Given the description of an element on the screen output the (x, y) to click on. 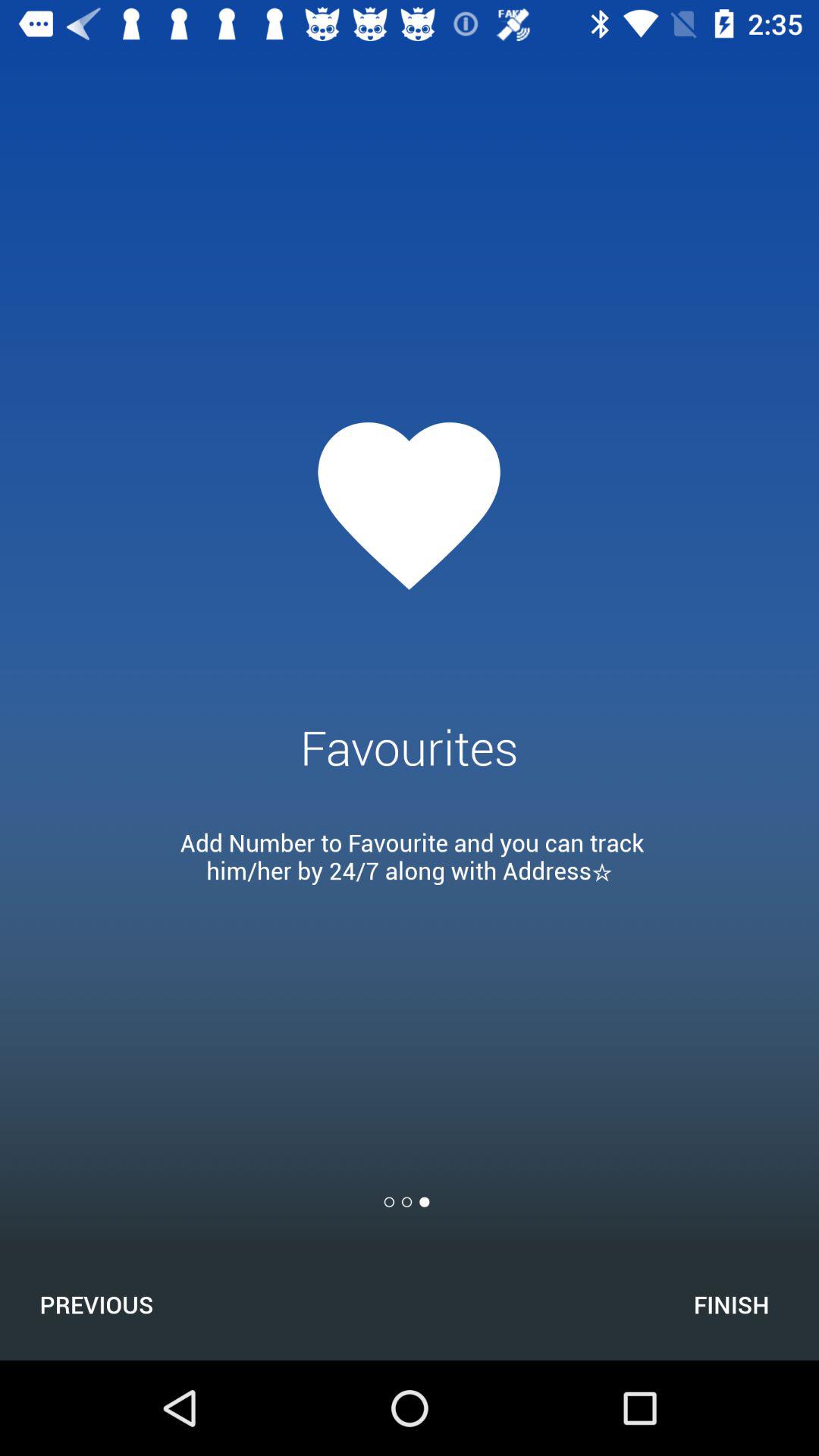
turn off icon to the right of the previous item (731, 1304)
